Given the description of an element on the screen output the (x, y) to click on. 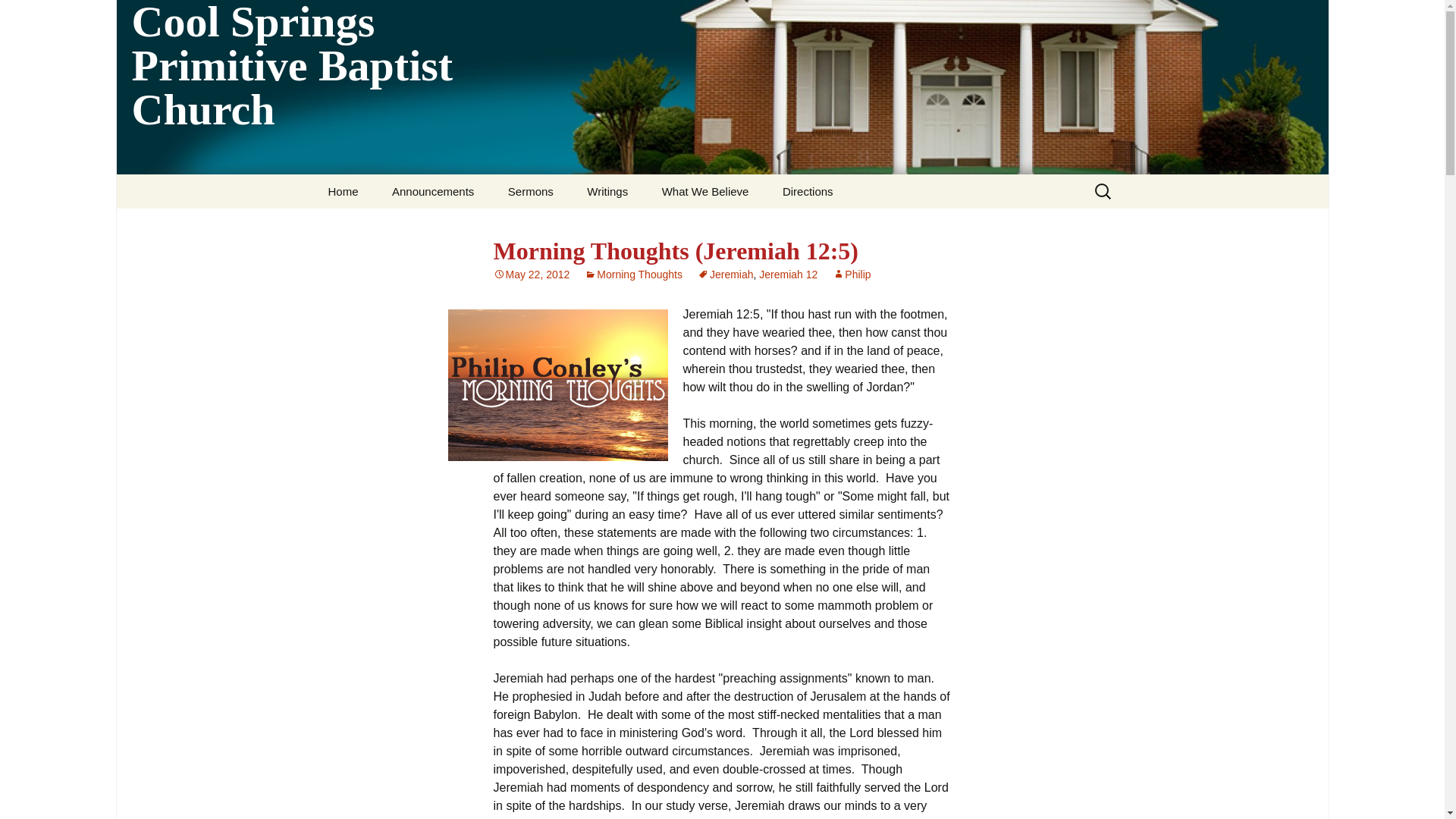
View all posts by Philip (851, 274)
Home (342, 191)
Jeremiah 12 (787, 274)
Directions (807, 191)
What We Believe (705, 191)
Philip (851, 274)
May 22, 2012 (531, 274)
Morning Thoughts (633, 274)
Announcements (433, 191)
Jeremiah (725, 274)
Morning Thoughts (556, 385)
Sermons (531, 191)
Search (18, 15)
